Given the description of an element on the screen output the (x, y) to click on. 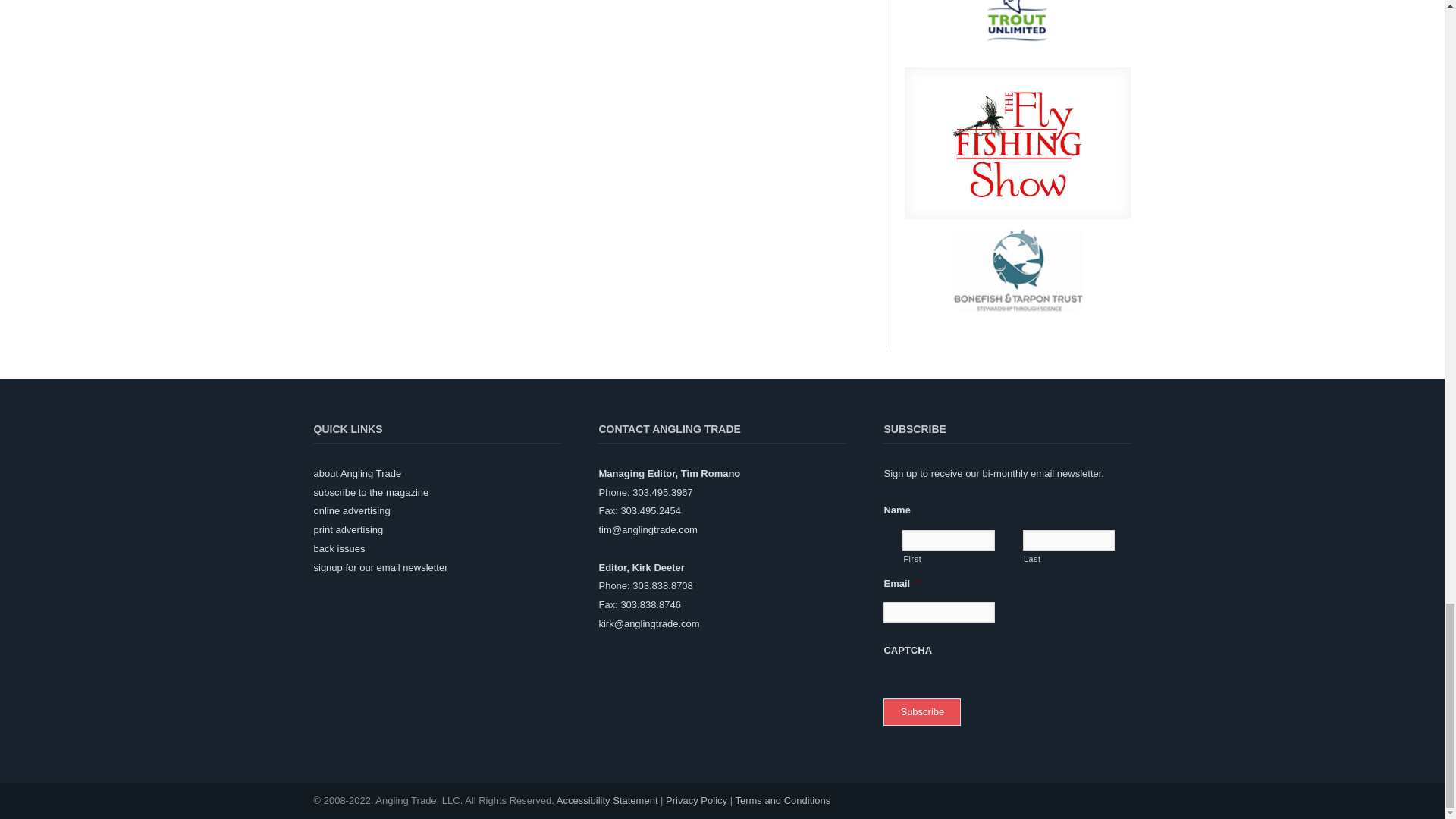
Subscribe (921, 712)
